Given the description of an element on the screen output the (x, y) to click on. 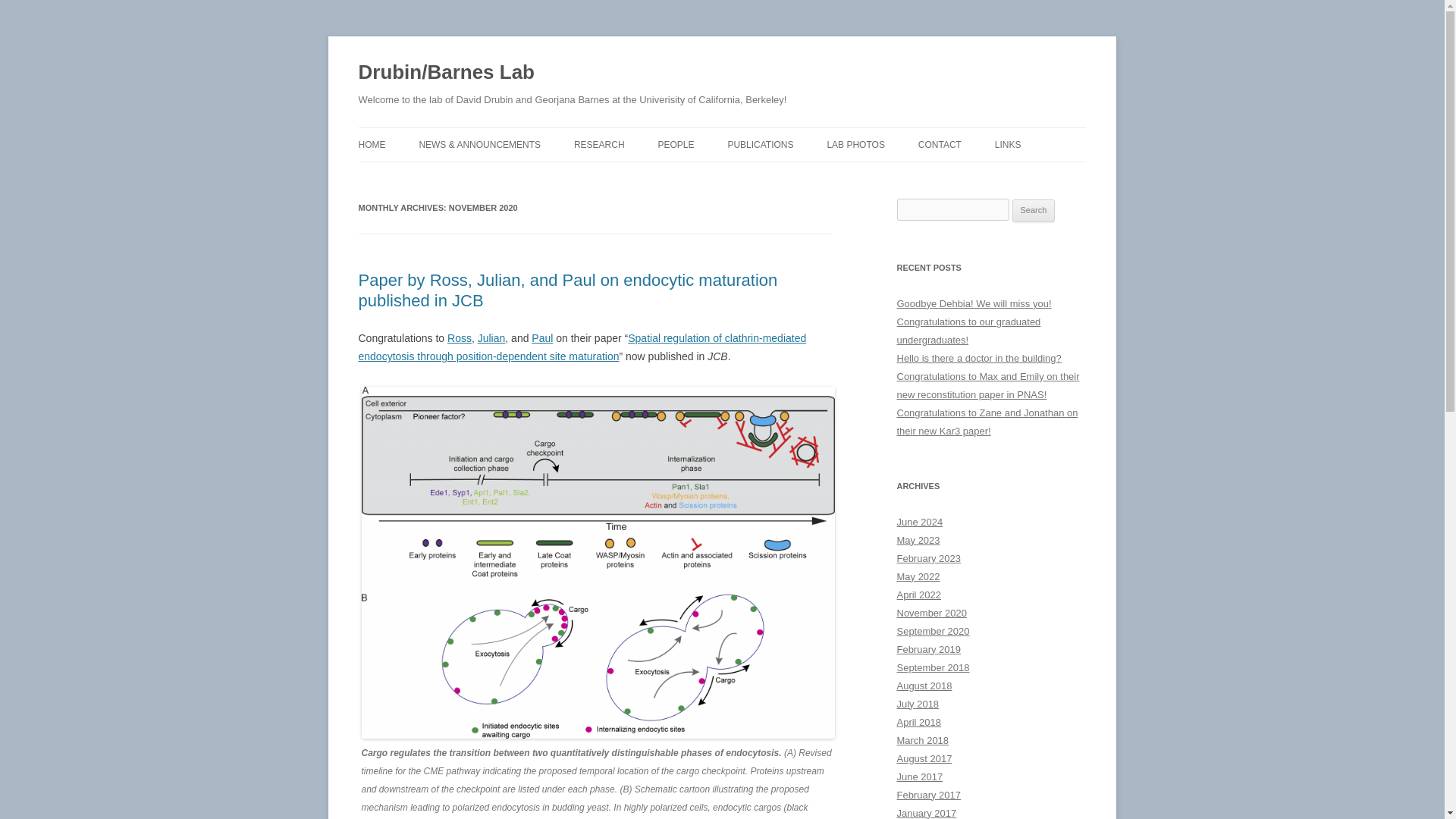
Hello is there a doctor in the building? (978, 357)
April 2022 (918, 594)
May 2022 (917, 576)
LINKS (1008, 144)
February 2023 (927, 558)
Julian (491, 337)
February 2019 (927, 649)
RESEARCH (598, 144)
CONTACT (939, 144)
August 2018 (924, 685)
HOME (371, 144)
ACTIN ASSEMBLY (649, 176)
